Given the description of an element on the screen output the (x, y) to click on. 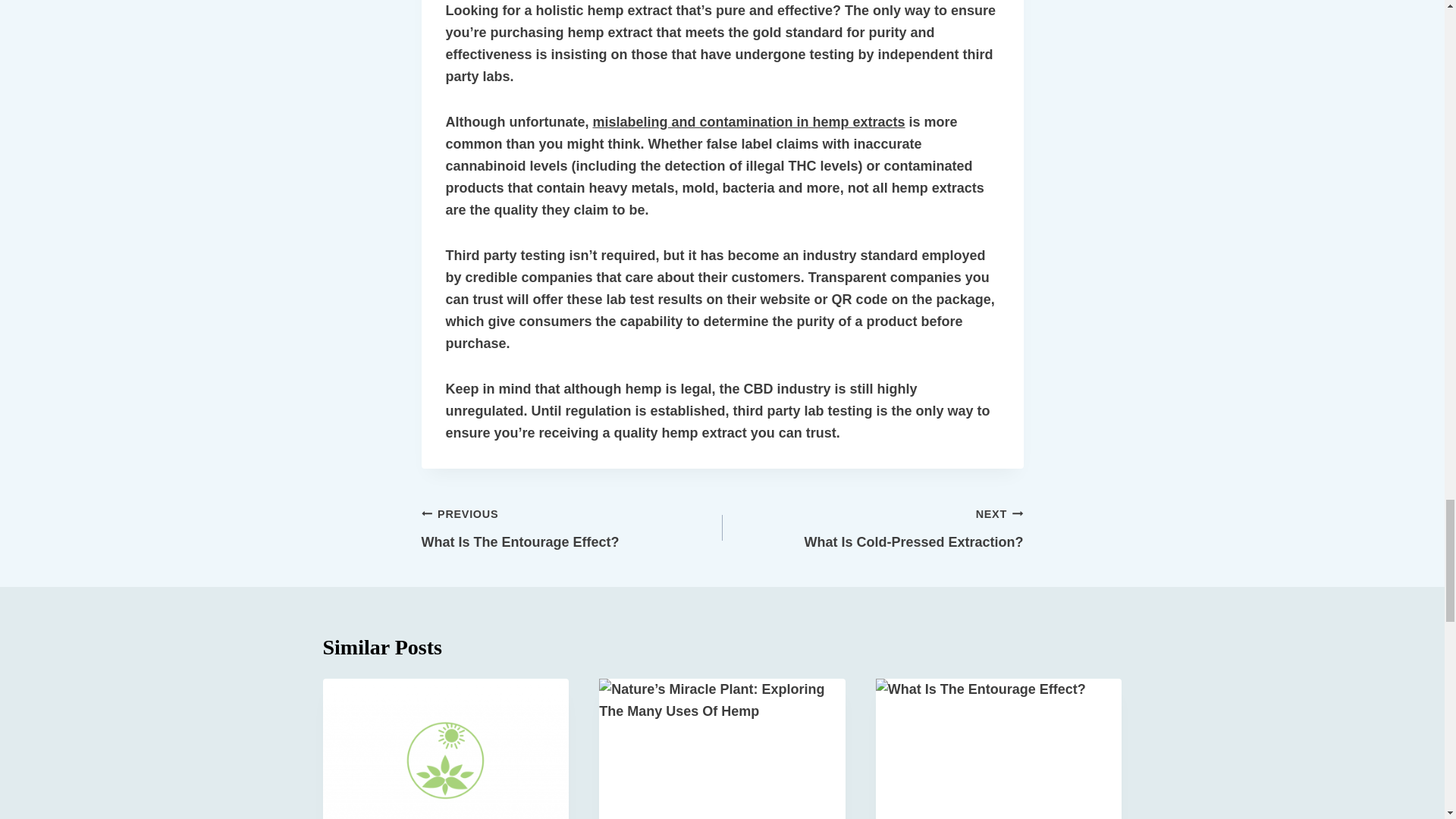
mislabeling and contamination in hemp extracts (748, 121)
